Given the description of an element on the screen output the (x, y) to click on. 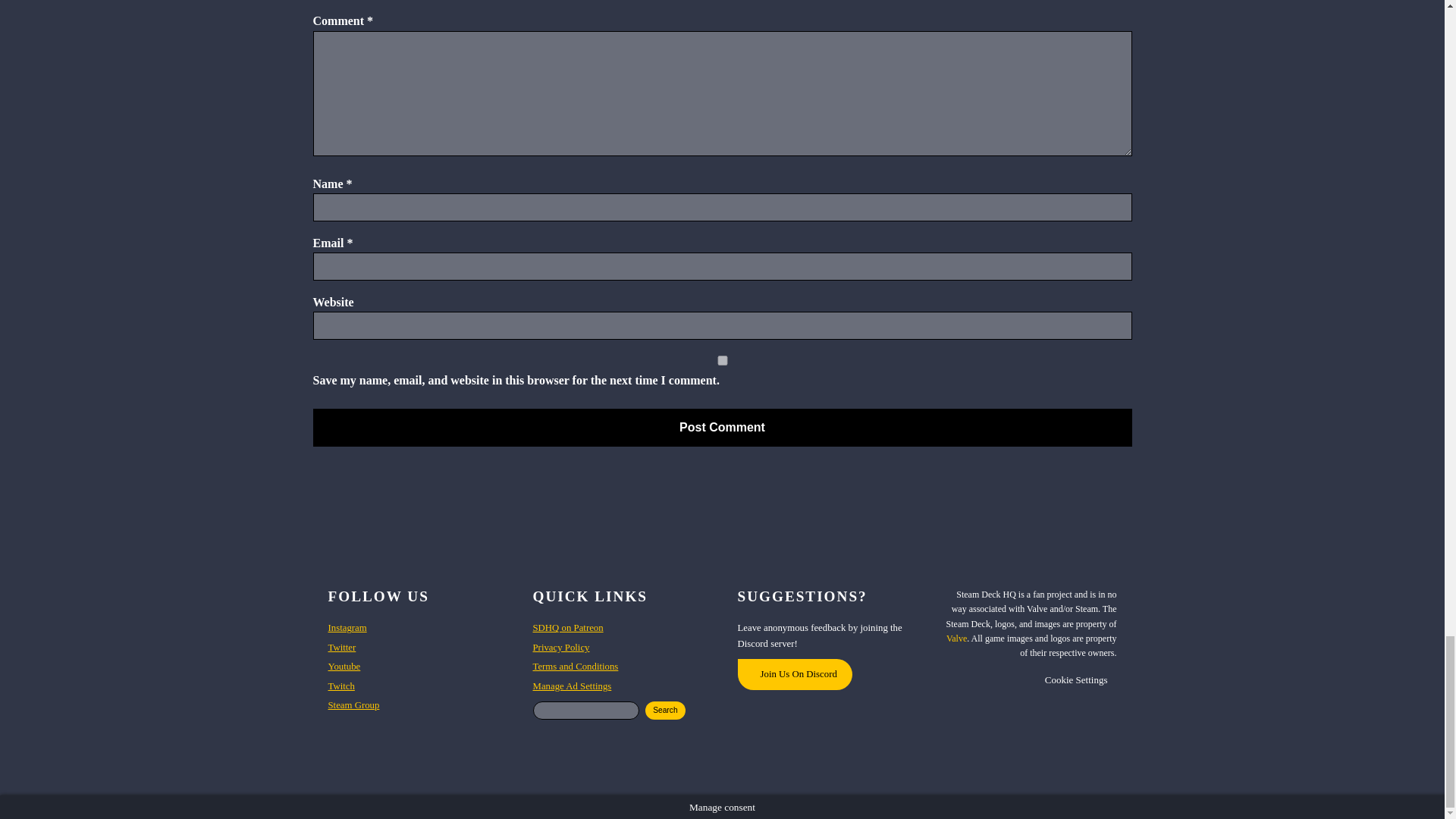
Search (665, 710)
Instagram (346, 627)
Post Comment (722, 427)
Youtube (343, 666)
Twitter (341, 647)
Post Comment (722, 427)
Twitch (340, 685)
yes (722, 360)
Steam Group (352, 704)
